Given the description of an element on the screen output the (x, y) to click on. 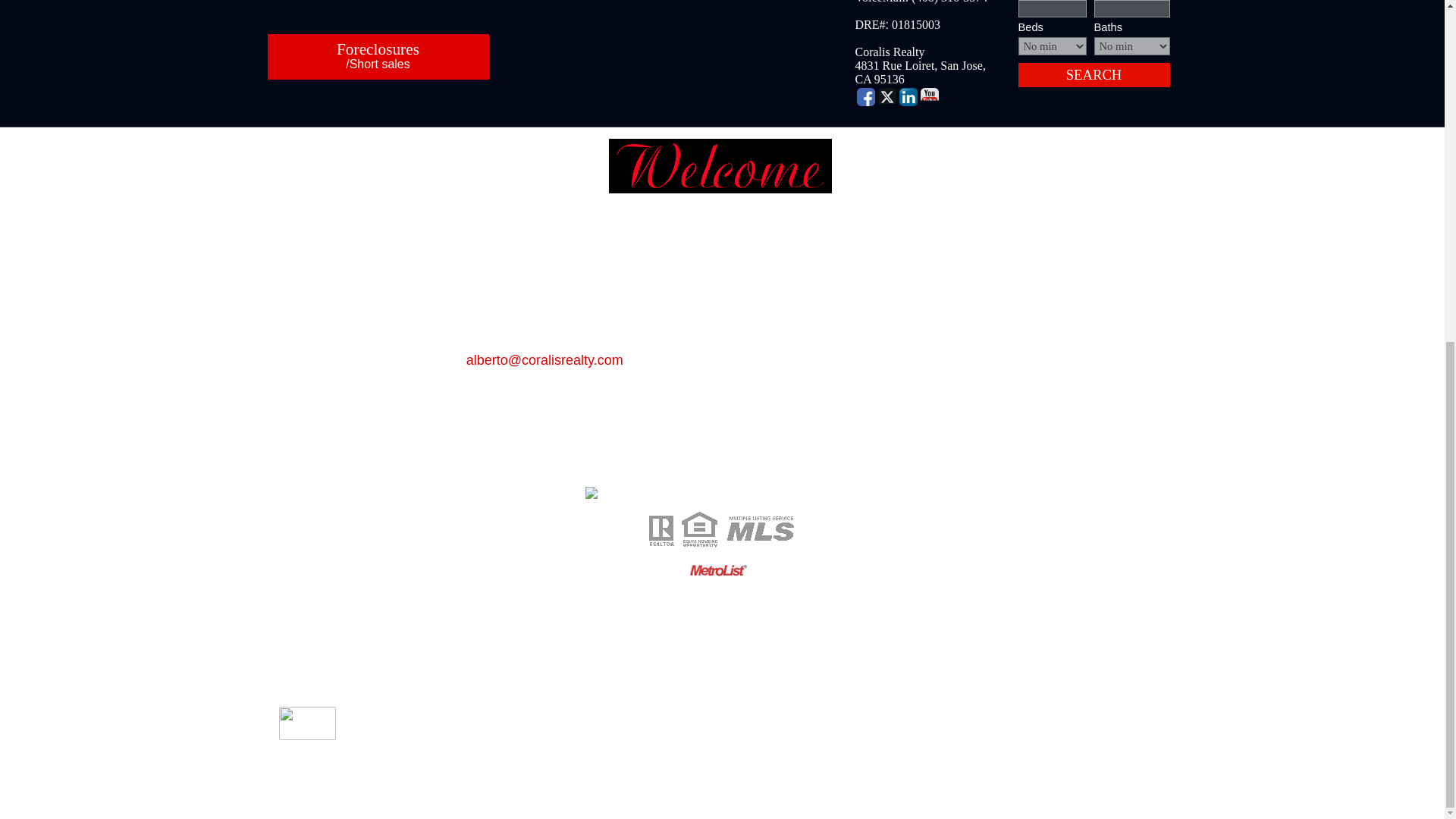
Site Map (717, 466)
Agent Login (780, 466)
Linked-In (908, 96)
Facebook (866, 96)
Contact Me (656, 466)
Home Page (588, 466)
YouTube (929, 96)
Client Login (853, 466)
SEARCH (1093, 74)
